Given the description of an element on the screen output the (x, y) to click on. 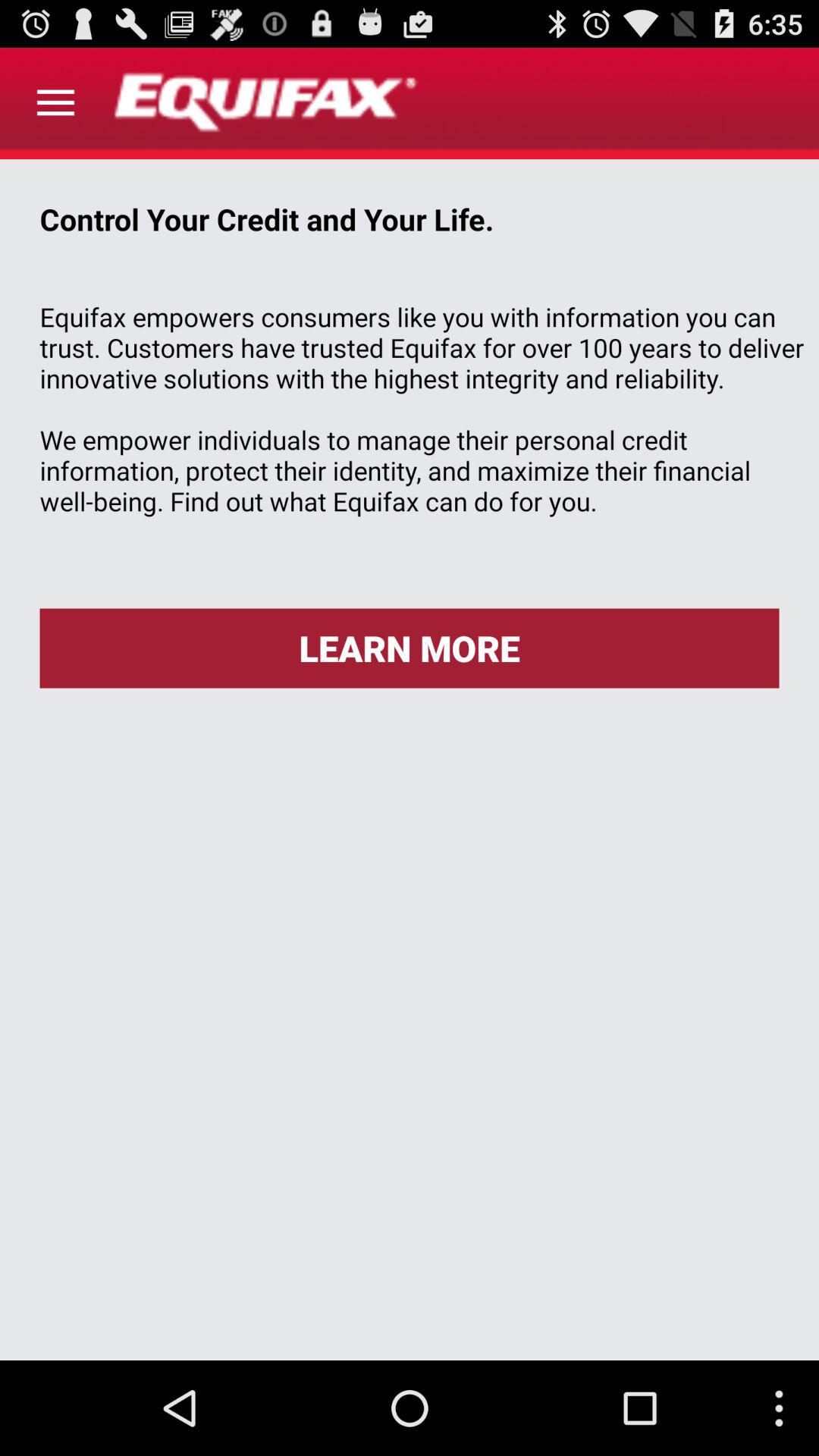
tap the item at the center (409, 648)
